Given the description of an element on the screen output the (x, y) to click on. 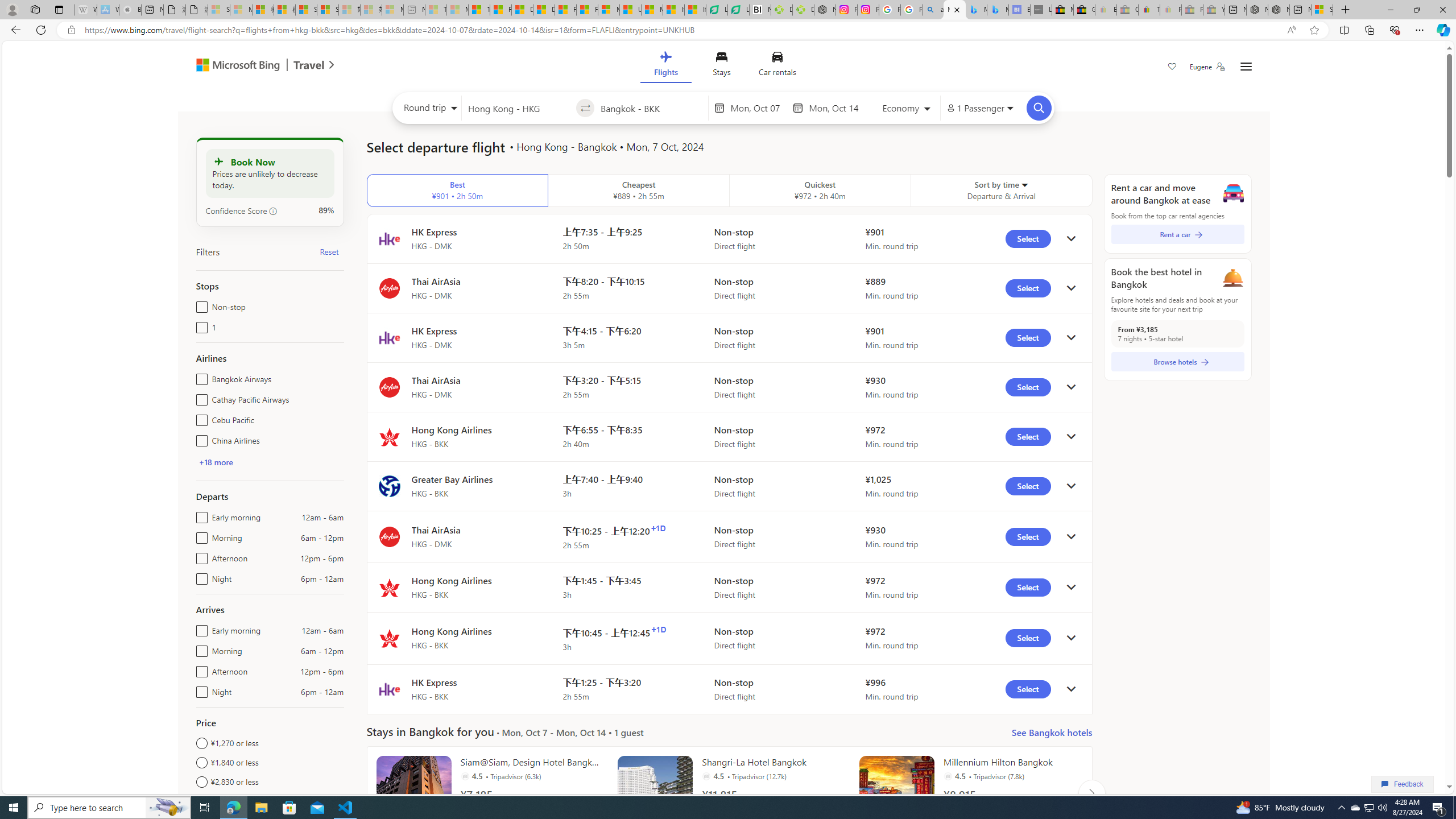
Microsoft account | Account Checkup - Sleeping (392, 9)
Cathay Pacific Airways (199, 397)
Press Room - eBay Inc. - Sleeping (1192, 9)
Non-stop (199, 304)
Early morning12am - 6am (199, 628)
Going to? (651, 107)
